Given the description of an element on the screen output the (x, y) to click on. 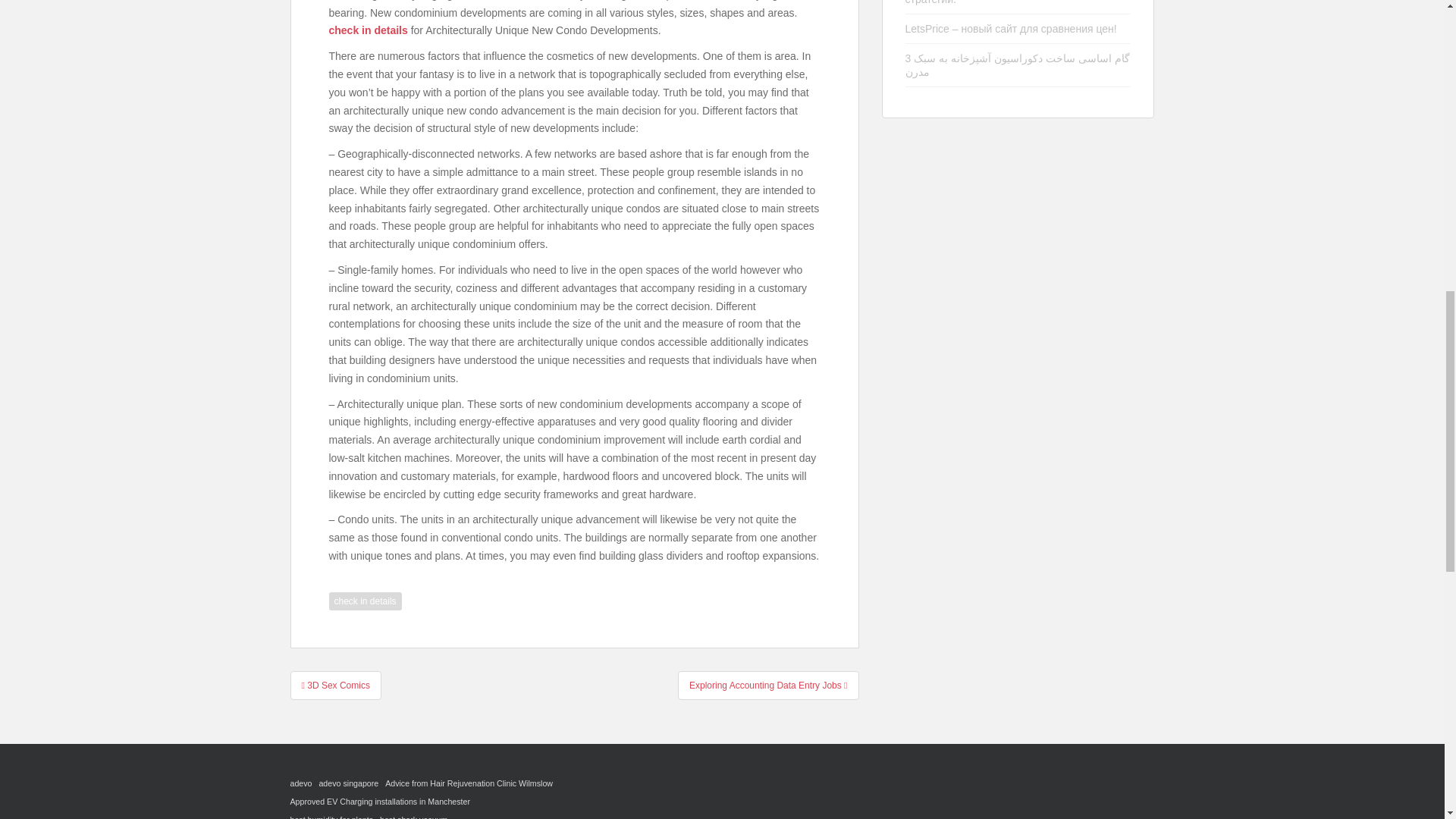
Exploring Accounting Data Entry Jobs (768, 685)
check in details (365, 601)
3D Sex Comics (334, 685)
check in details (368, 30)
